Given the description of an element on the screen output the (x, y) to click on. 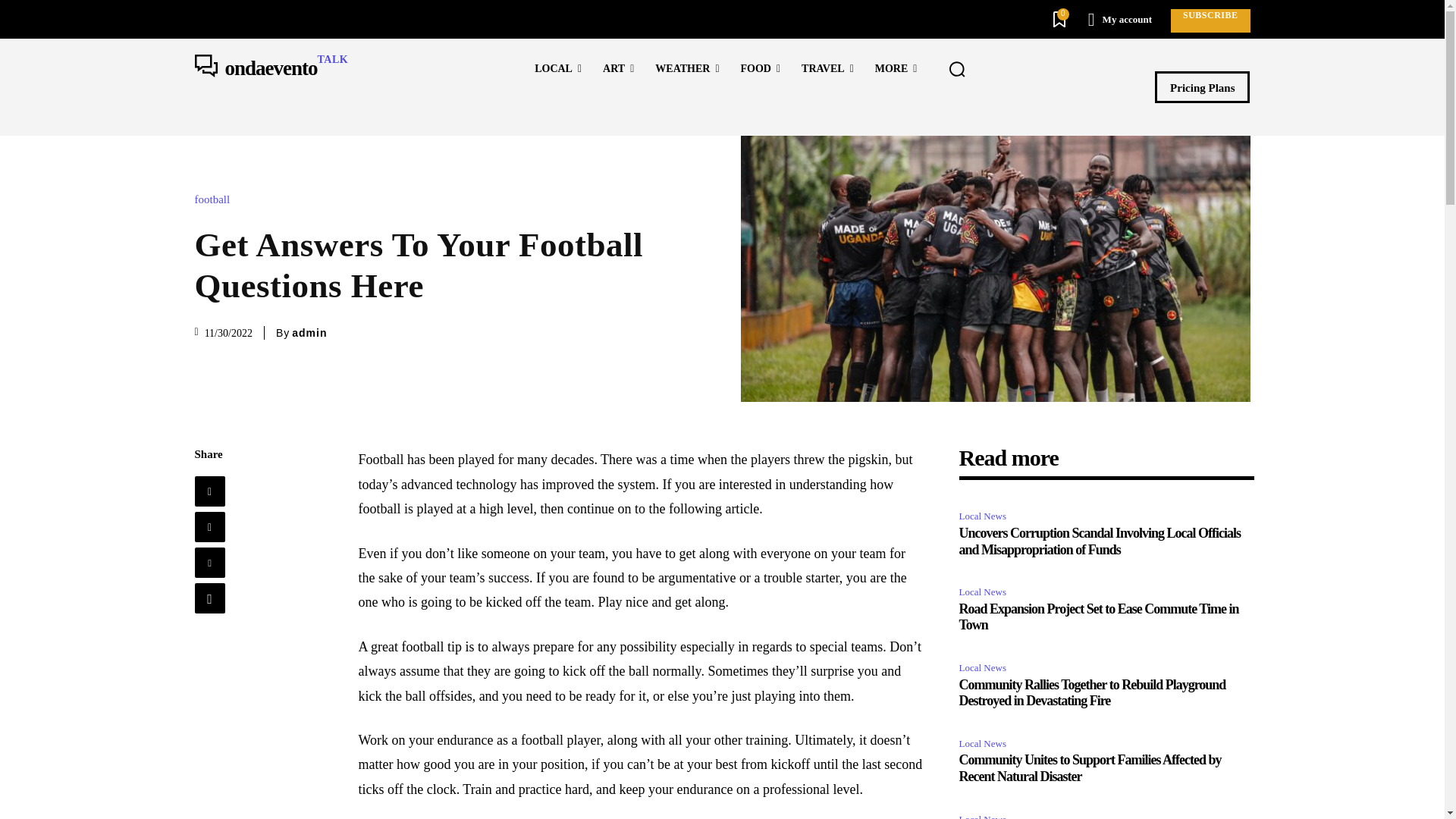
Subscribe (1210, 20)
